Given the description of an element on the screen output the (x, y) to click on. 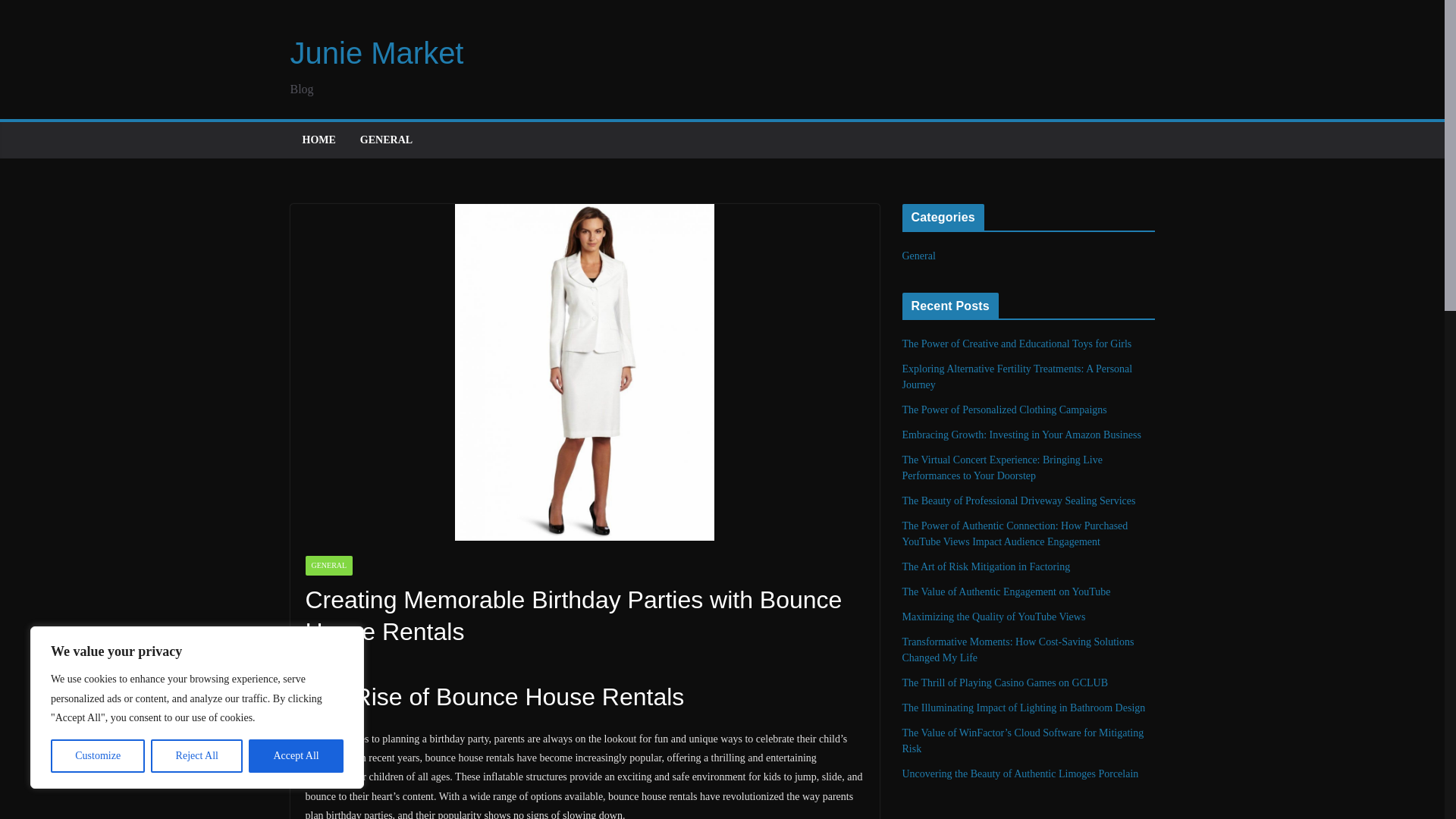
General (919, 255)
Junie Market (376, 52)
Accept All (295, 756)
Junie Market (376, 52)
GENERAL (328, 565)
Embracing Growth: Investing in Your Amazon Business (1021, 434)
Customize (97, 756)
Reject All (197, 756)
